Given the description of an element on the screen output the (x, y) to click on. 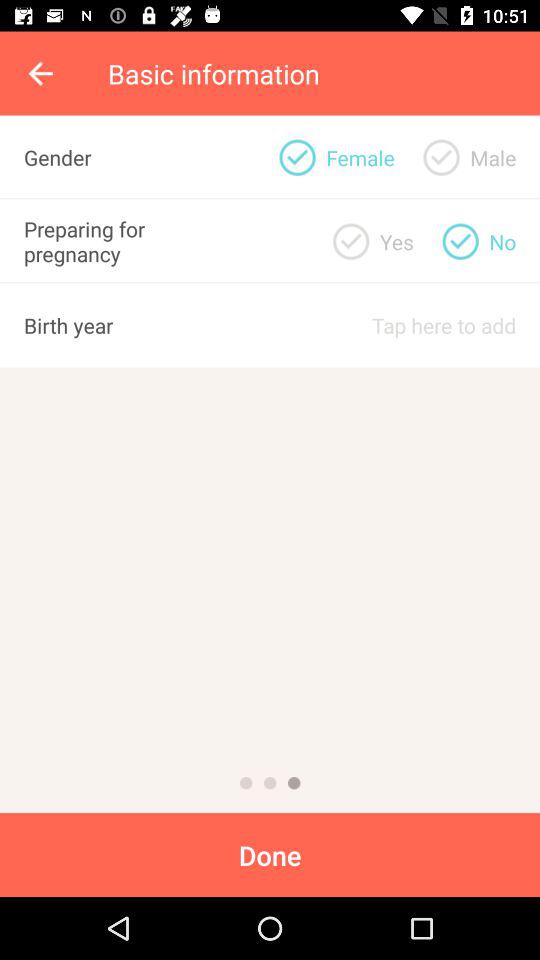
go to next page (294, 783)
